Given the description of an element on the screen output the (x, y) to click on. 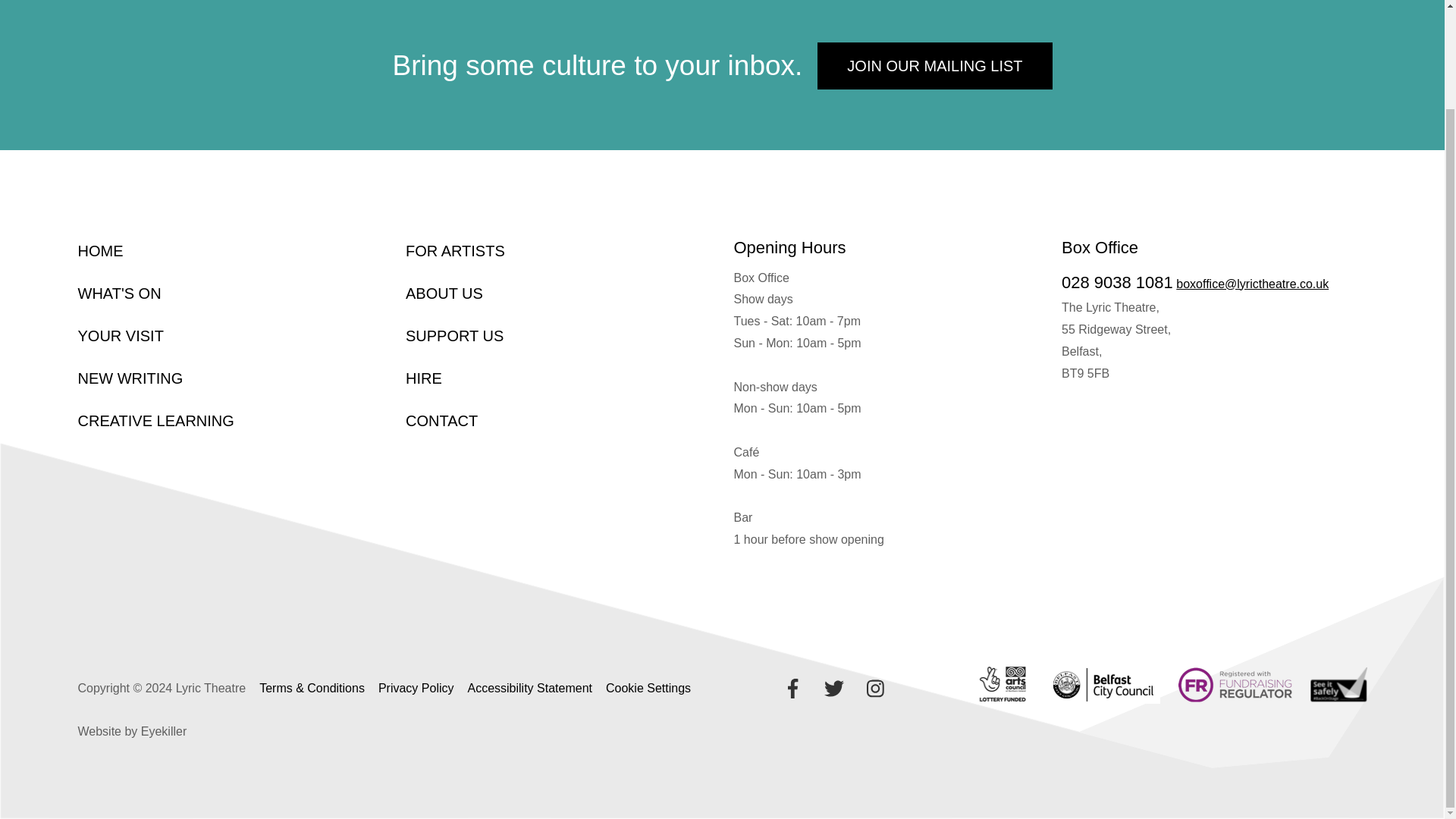
HIRE (424, 378)
028 9038 1081 (1117, 281)
JOIN OUR MAILING LIST (933, 65)
Privacy Policy (416, 687)
SUPPORT US (454, 335)
NEW WRITING (130, 378)
ABOUT US (444, 293)
Website by Eyekiller (131, 731)
CREATIVE LEARNING (154, 420)
FOR ARTISTS (455, 250)
Cookie Settings (647, 687)
YOUR VISIT (120, 335)
WHAT'S ON (118, 293)
HOME (99, 250)
Accessibility Statement (529, 687)
